Given the description of an element on the screen output the (x, y) to click on. 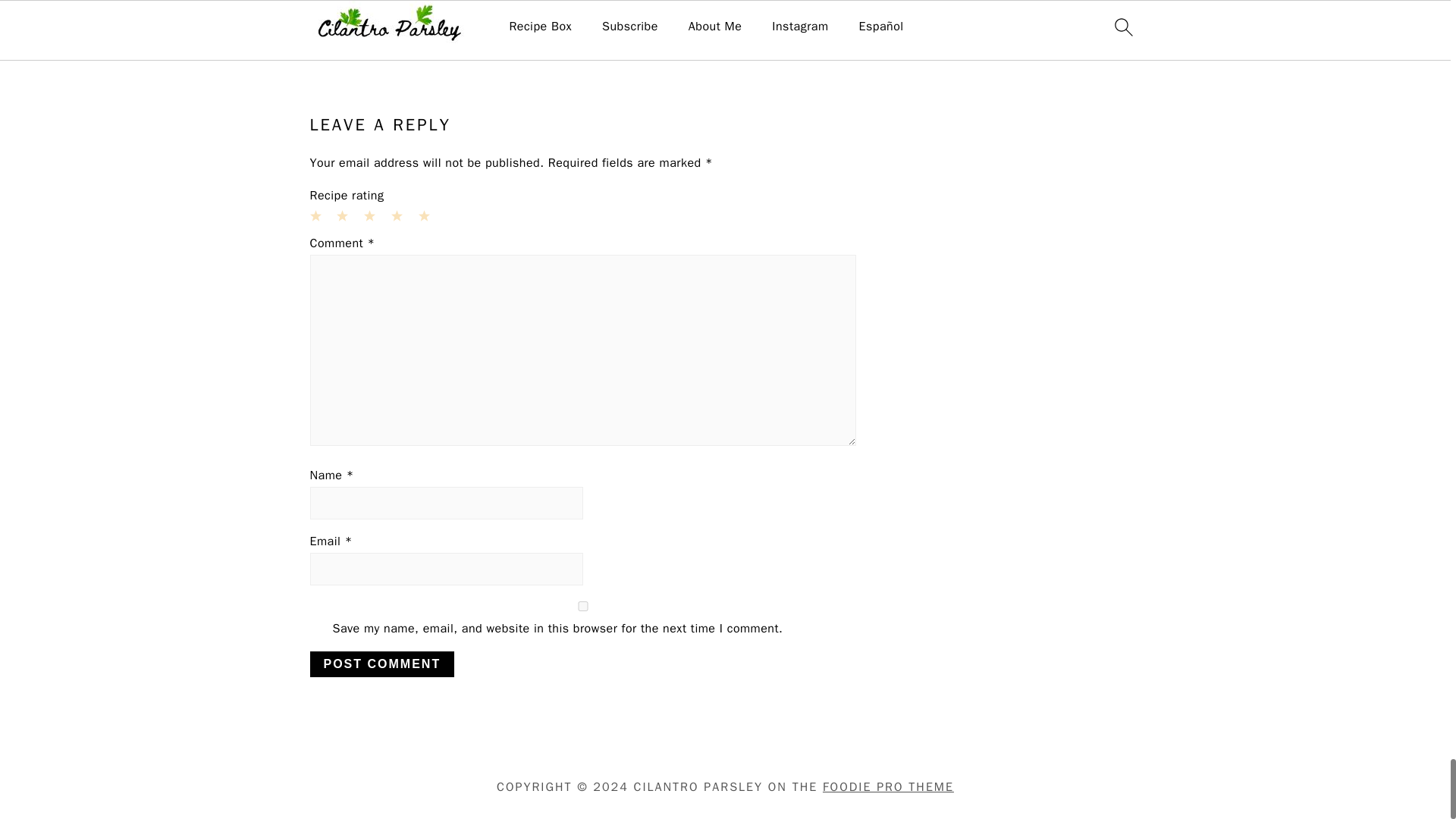
yes (582, 605)
Post Comment (381, 664)
